Given the description of an element on the screen output the (x, y) to click on. 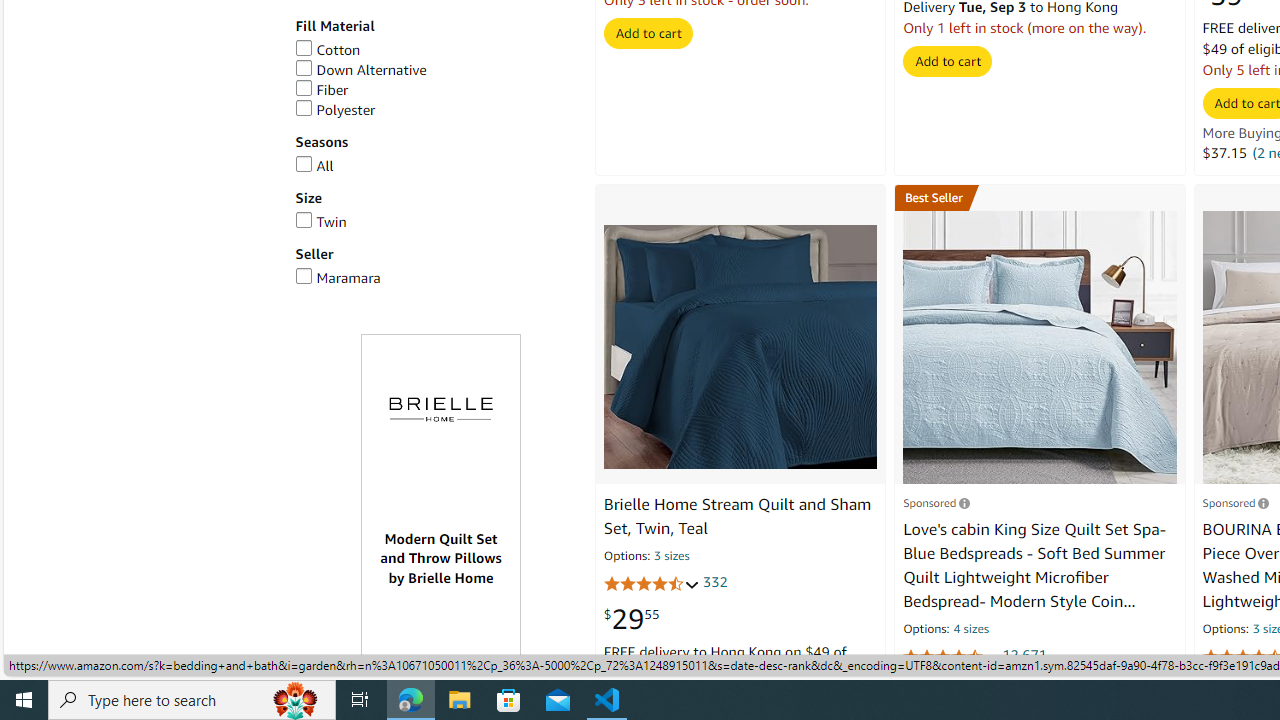
Brielle Home Stream Quilt and Sham Set, Twin, Teal (736, 516)
Add to cart (947, 61)
